Given the description of an element on the screen output the (x, y) to click on. 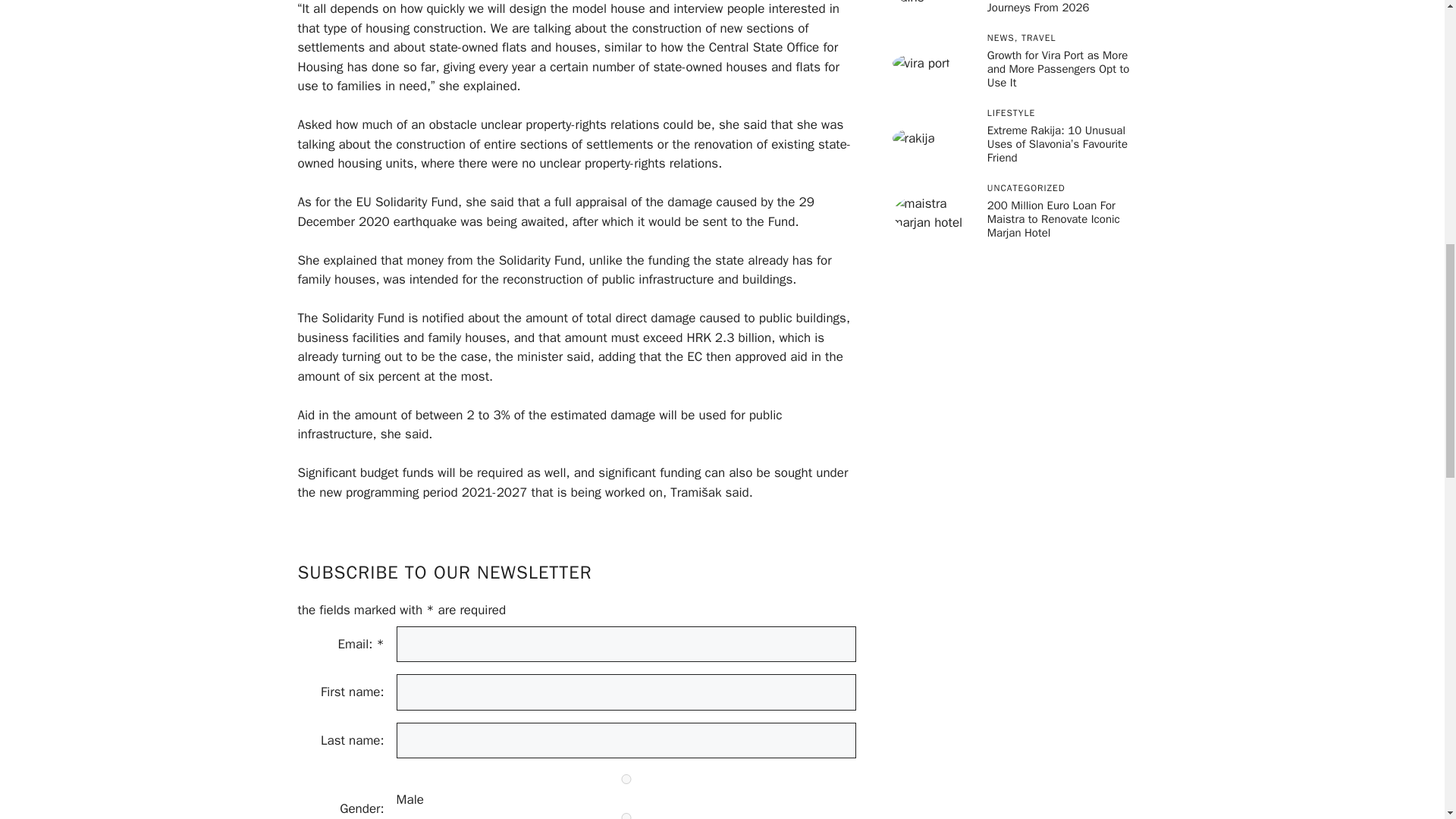
M (626, 778)
F (626, 816)
